Given the description of an element on the screen output the (x, y) to click on. 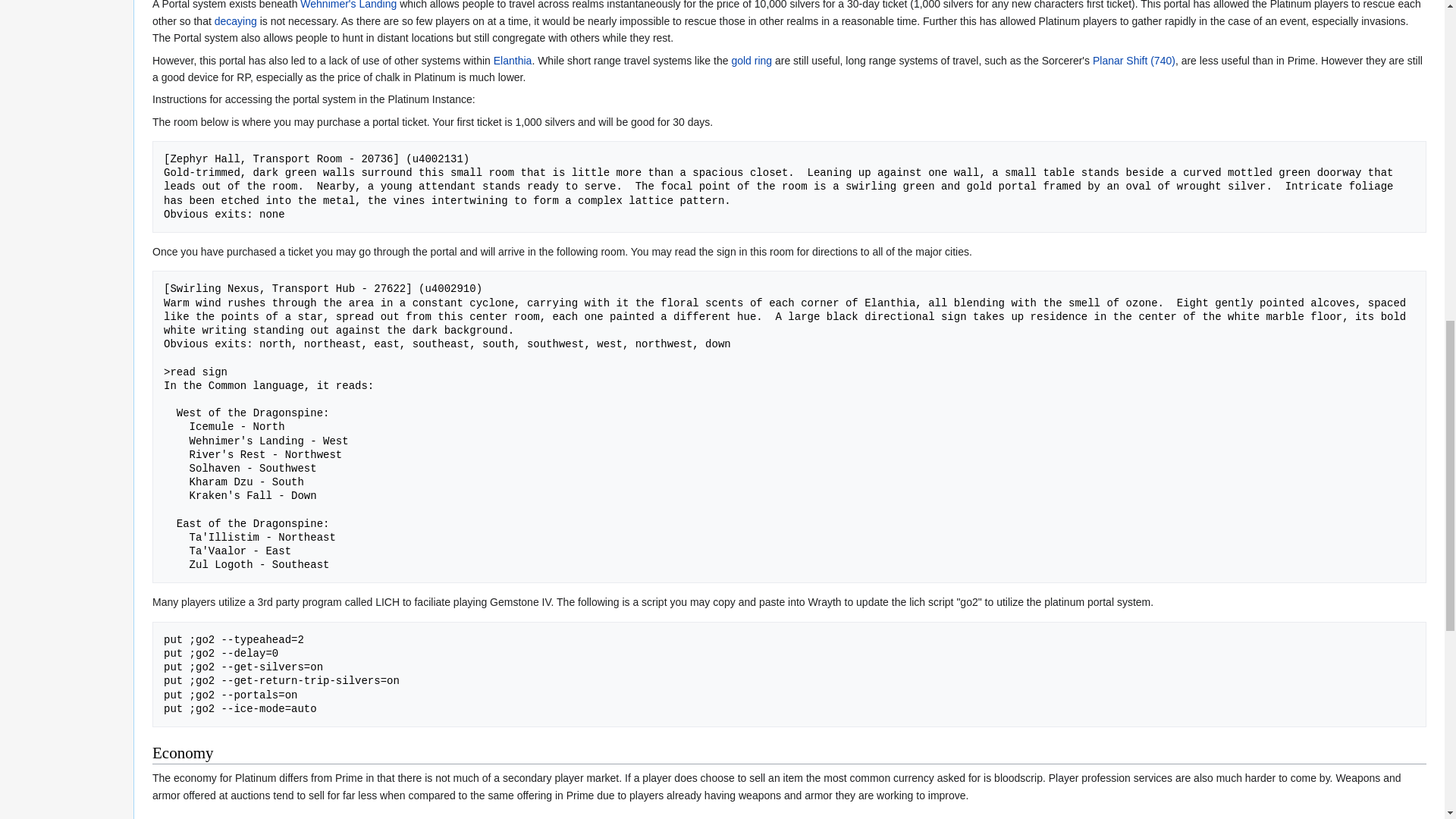
gold ring (750, 60)
Decay (235, 21)
Wehnimer's Landing (347, 4)
decaying (235, 21)
Wehnimer's Landing (347, 4)
Elanthia (512, 60)
Elanthia (512, 60)
Gold ring (750, 60)
